Given the description of an element on the screen output the (x, y) to click on. 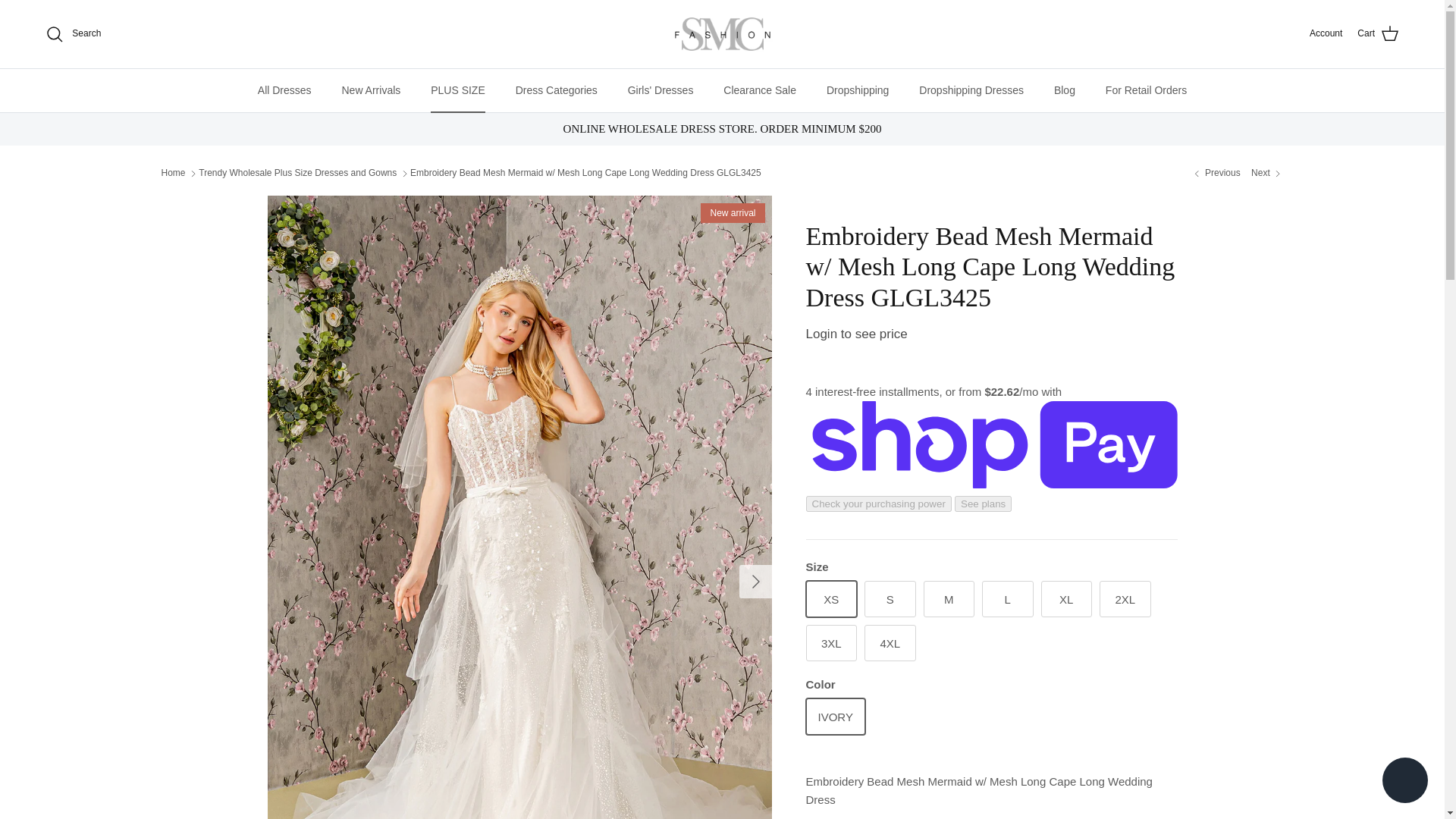
Clearance Sale (759, 89)
smcfashion.com (721, 34)
PLUS SIZE (457, 89)
Search (72, 34)
Dress Categories (556, 89)
Cart (1377, 34)
New Arrivals (370, 89)
Account (1325, 33)
Dropshipping (857, 89)
Girls' Dresses (660, 89)
Dropshipping Dresses (970, 89)
Shopify online store chat (1404, 781)
All Dresses (284, 89)
